Given the description of an element on the screen output the (x, y) to click on. 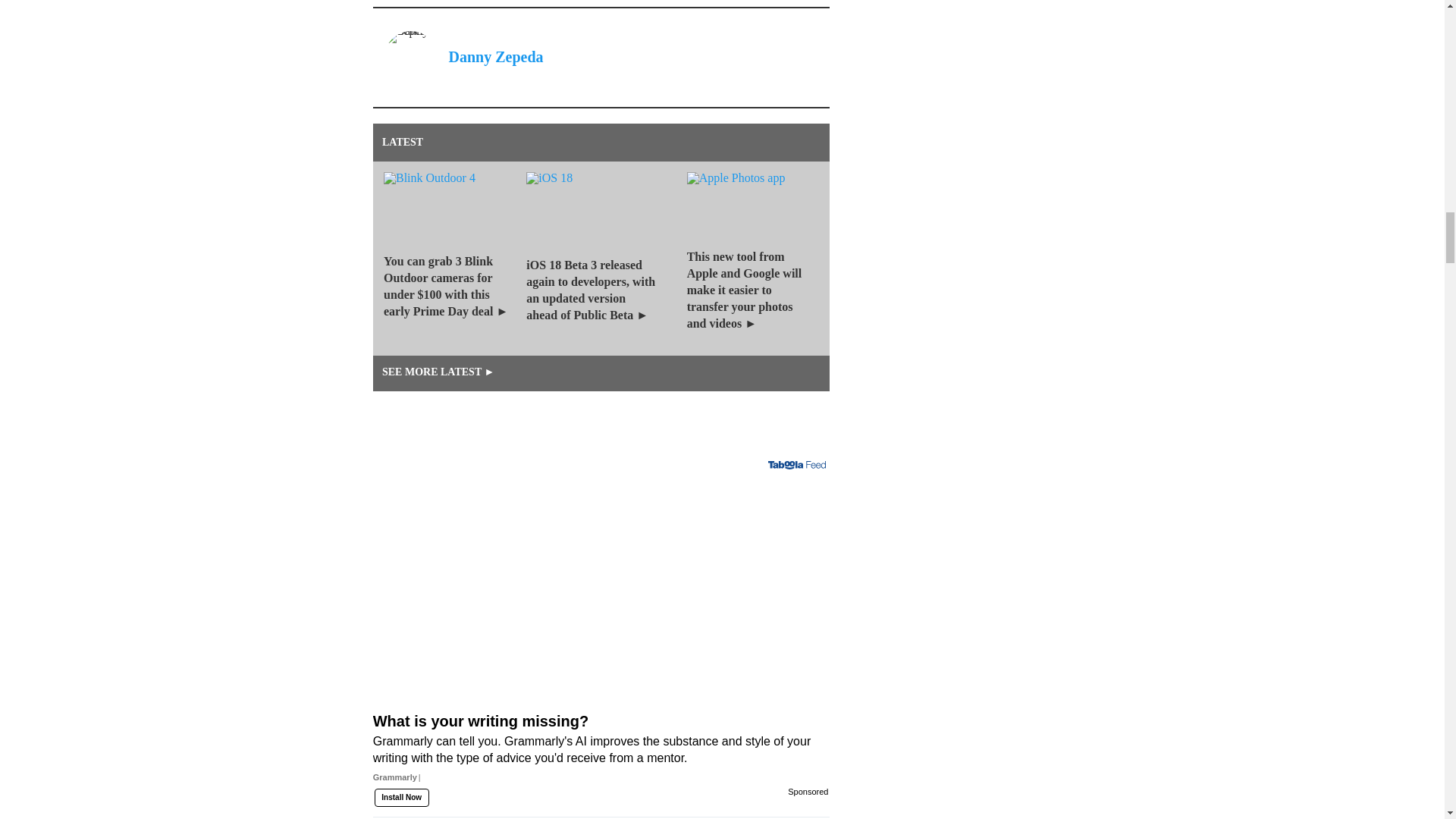
What is your writing missing? (600, 774)
